Given the description of an element on the screen output the (x, y) to click on. 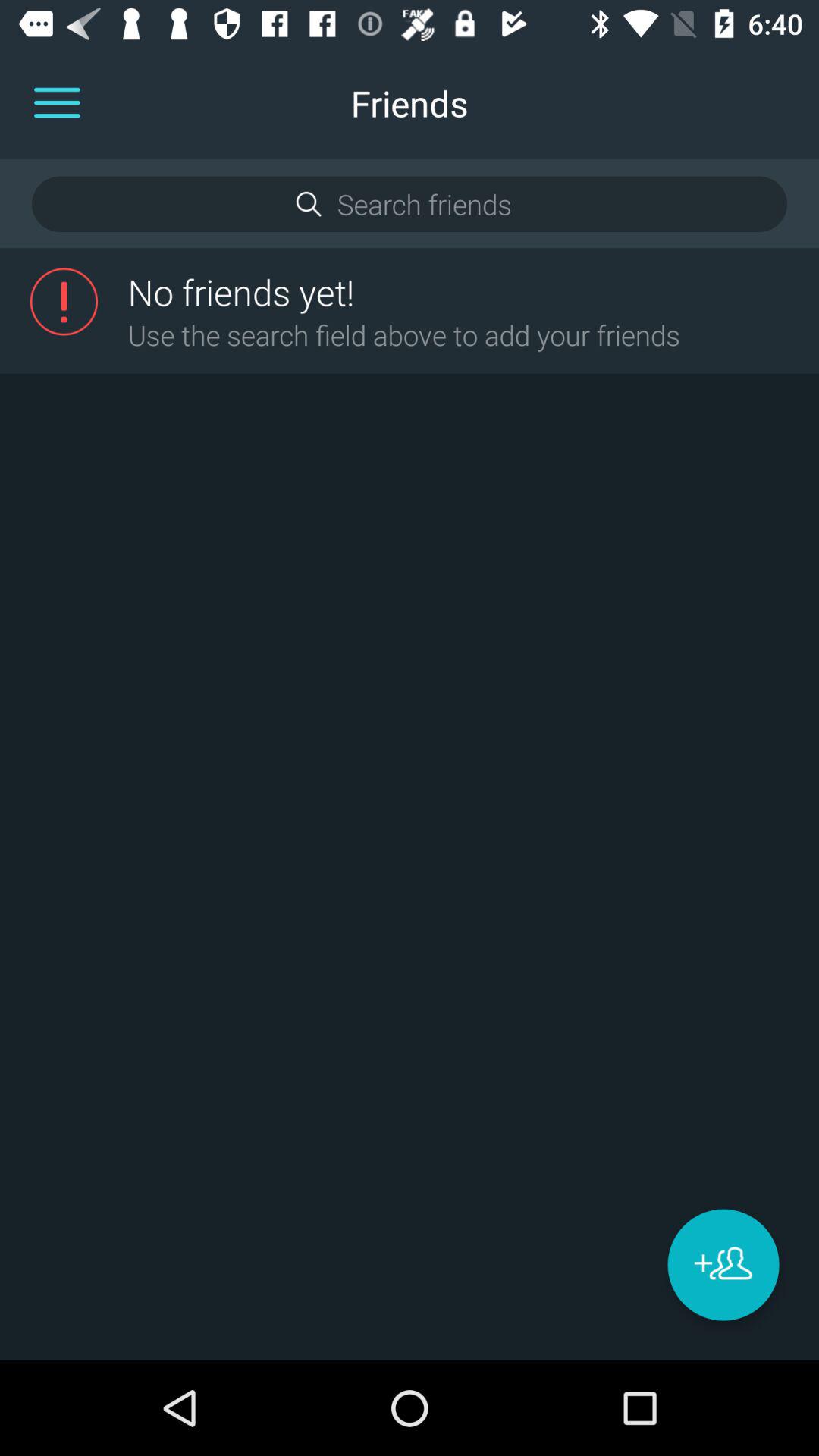
add new friend (723, 1264)
